Given the description of an element on the screen output the (x, y) to click on. 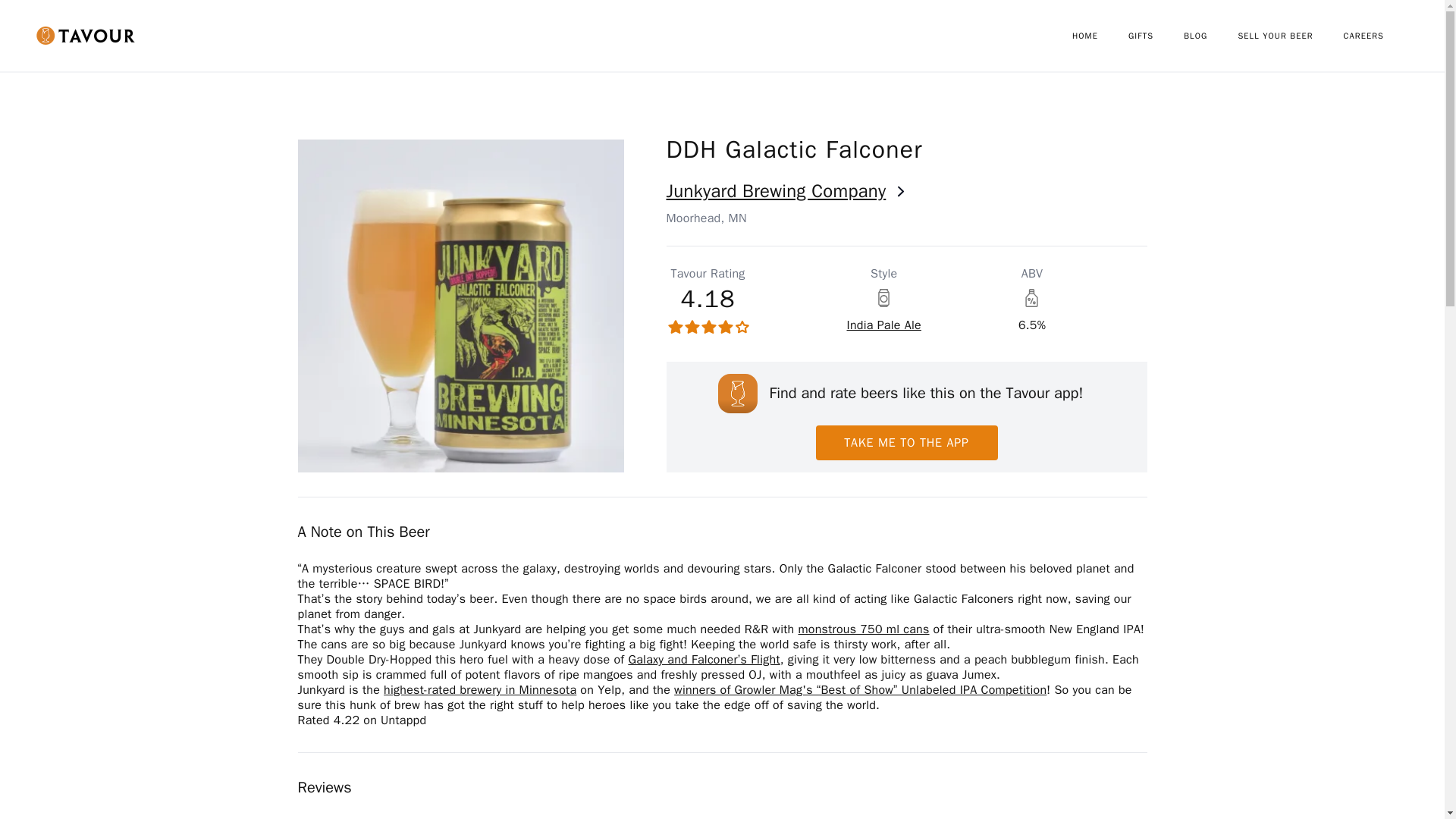
blog (1210, 35)
CAREERS (1378, 35)
India Pale Ale (882, 325)
BLOG (1210, 35)
home (1099, 35)
TAKE ME TO THE APP (906, 442)
sell your beer (1289, 35)
careers (1378, 35)
HOME (1099, 35)
GIFTS (1155, 35)
